Given the description of an element on the screen output the (x, y) to click on. 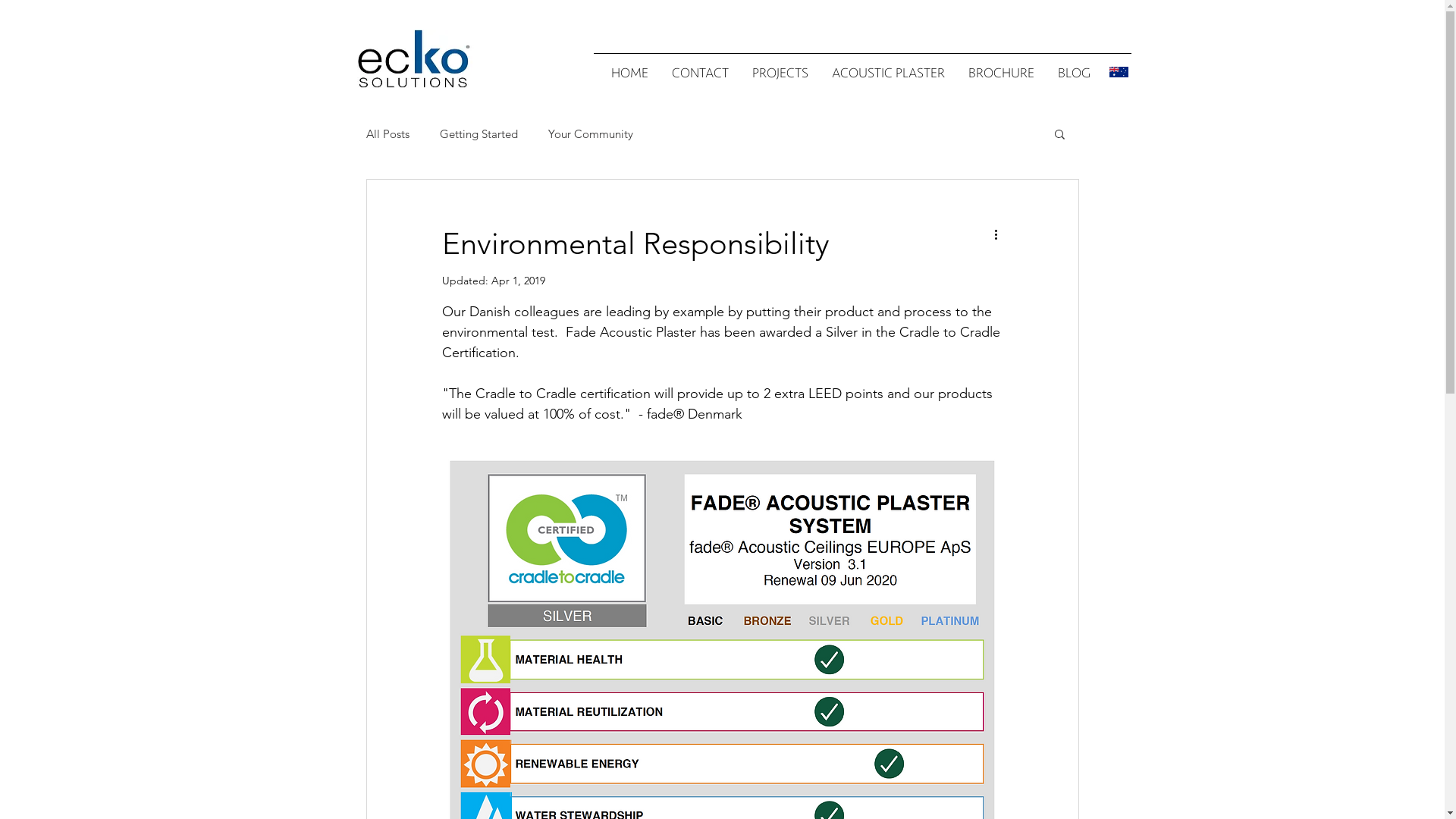
All Posts Element type: text (386, 132)
BLOG Element type: text (1073, 73)
BROCHURE Element type: text (1001, 73)
PROJECTS Element type: text (779, 73)
ACOUSTIC PLASTER Element type: text (888, 73)
Getting Started Element type: text (478, 132)
CONTACT Element type: text (699, 73)
Fade Acoustic Ceilings Australia Logo Element type: hover (412, 58)
Your Community Element type: text (589, 132)
HOME Element type: text (629, 73)
